Given the description of an element on the screen output the (x, y) to click on. 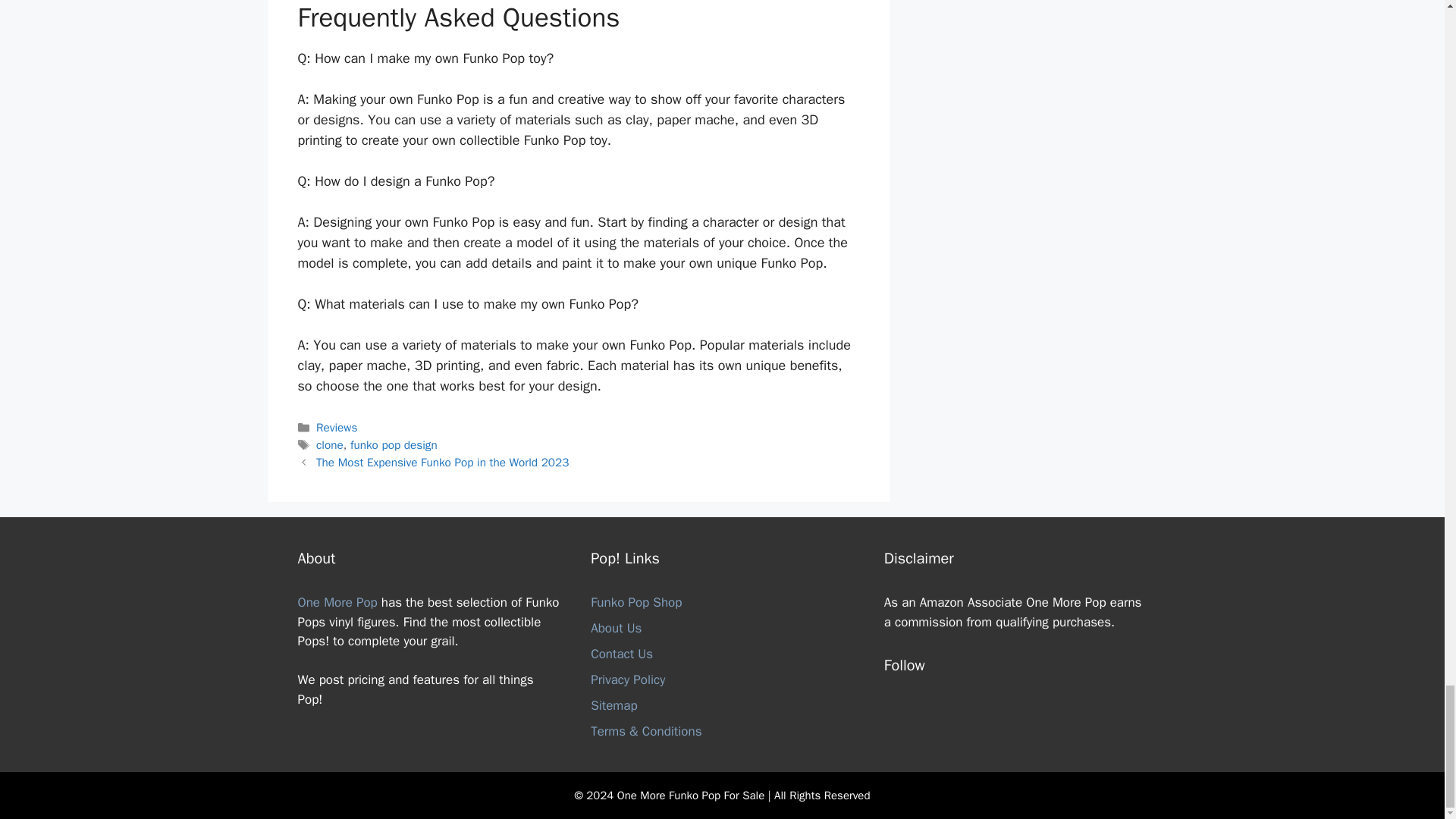
The Most Expensive Funko Pop in the World 2023 (442, 462)
Privacy Policy (628, 679)
One More Pop (337, 602)
clone (329, 444)
About Us (616, 627)
Reviews (335, 427)
funko pop design (394, 444)
Sitemap (614, 705)
Funko Pop Shop (636, 602)
Contact Us (621, 653)
